Given the description of an element on the screen output the (x, y) to click on. 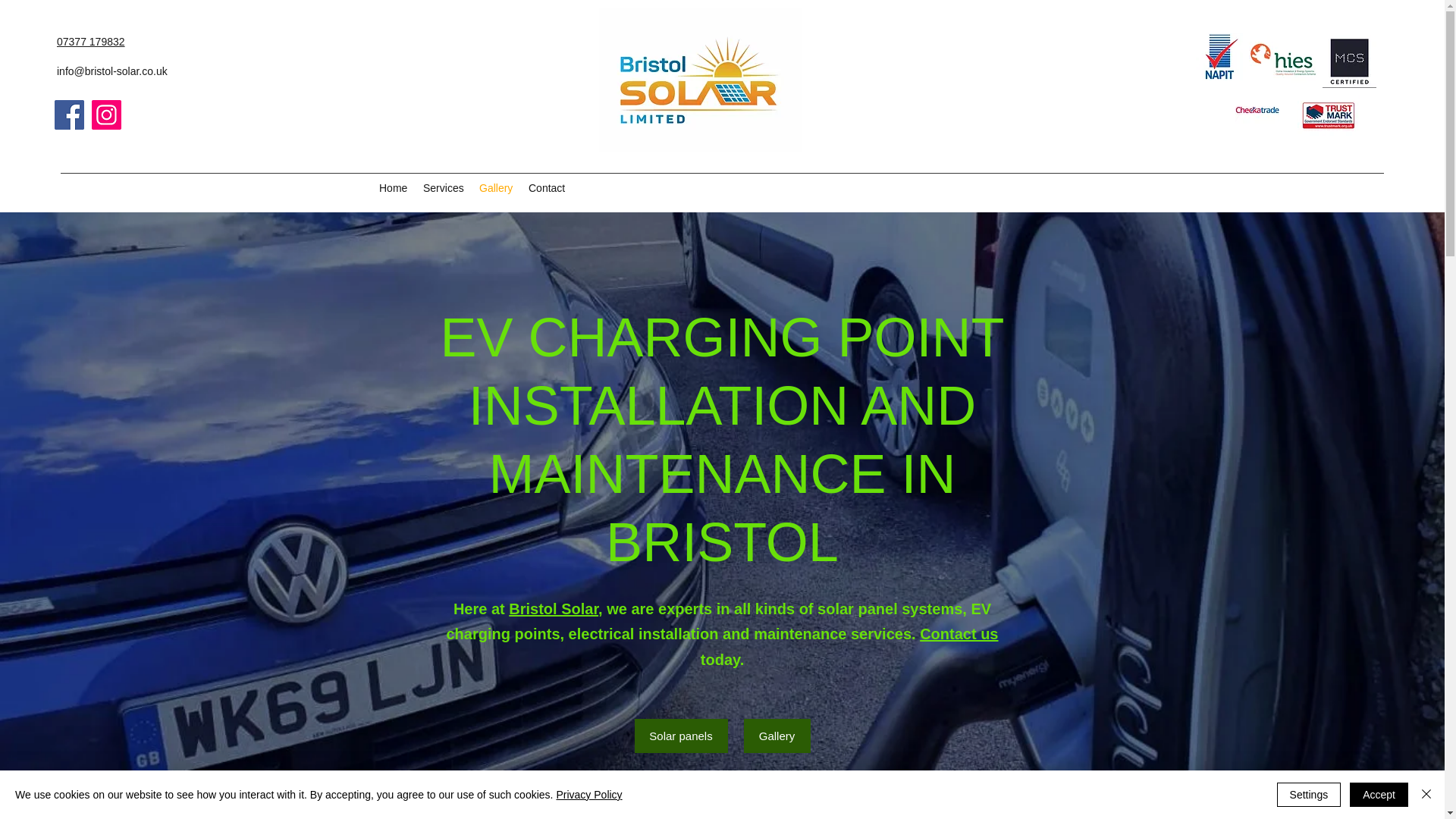
Accept (1378, 794)
Solar panels (679, 735)
today. (722, 659)
Contact (547, 187)
Gallery (775, 735)
Gallery (496, 187)
Privacy Policy (588, 794)
Home (392, 187)
Services (442, 187)
Settings (1308, 794)
